Given the description of an element on the screen output the (x, y) to click on. 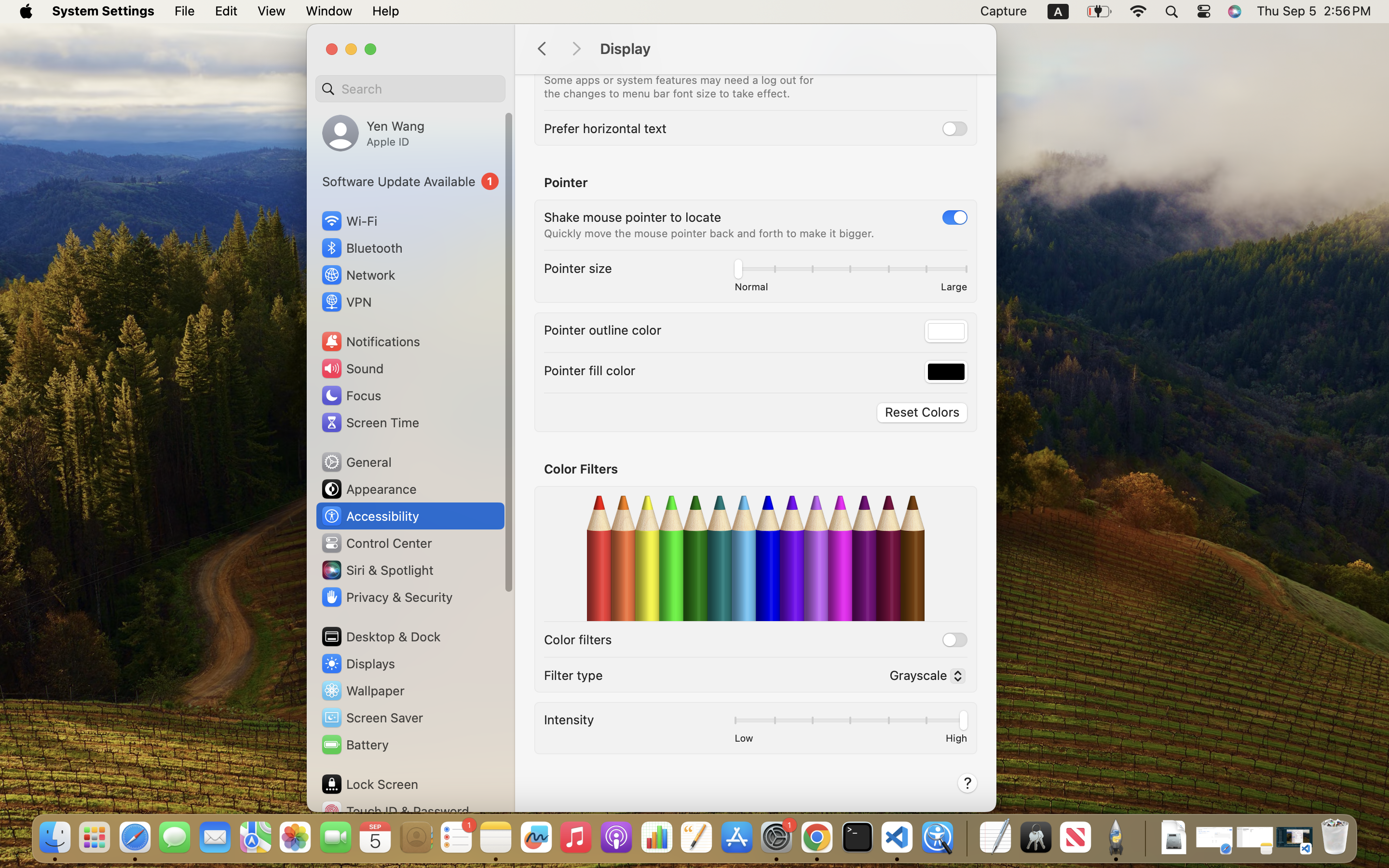
Privacy & Security Element type: AXStaticText (386, 596)
Wallpaper Element type: AXStaticText (362, 690)
Pointer outline color Element type: AXStaticText (602, 329)
Color filters Element type: AXStaticText (577, 639)
Displays Element type: AXStaticText (357, 663)
